Given the description of an element on the screen output the (x, y) to click on. 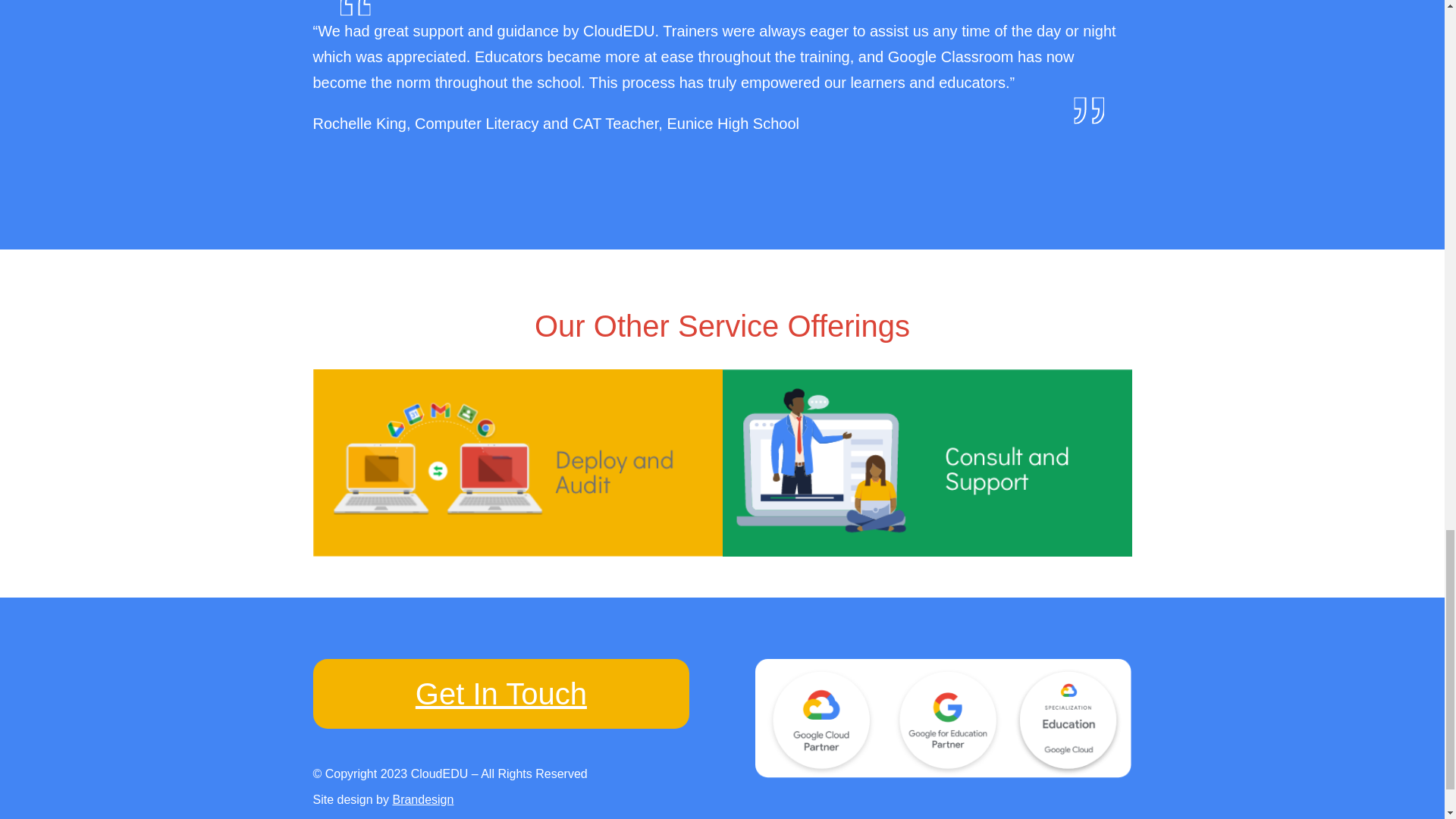
google-partners (943, 718)
Consult and Support - CloudEdu (926, 462)
Deploy and Audit - CloudEdu (517, 462)
